Given the description of an element on the screen output the (x, y) to click on. 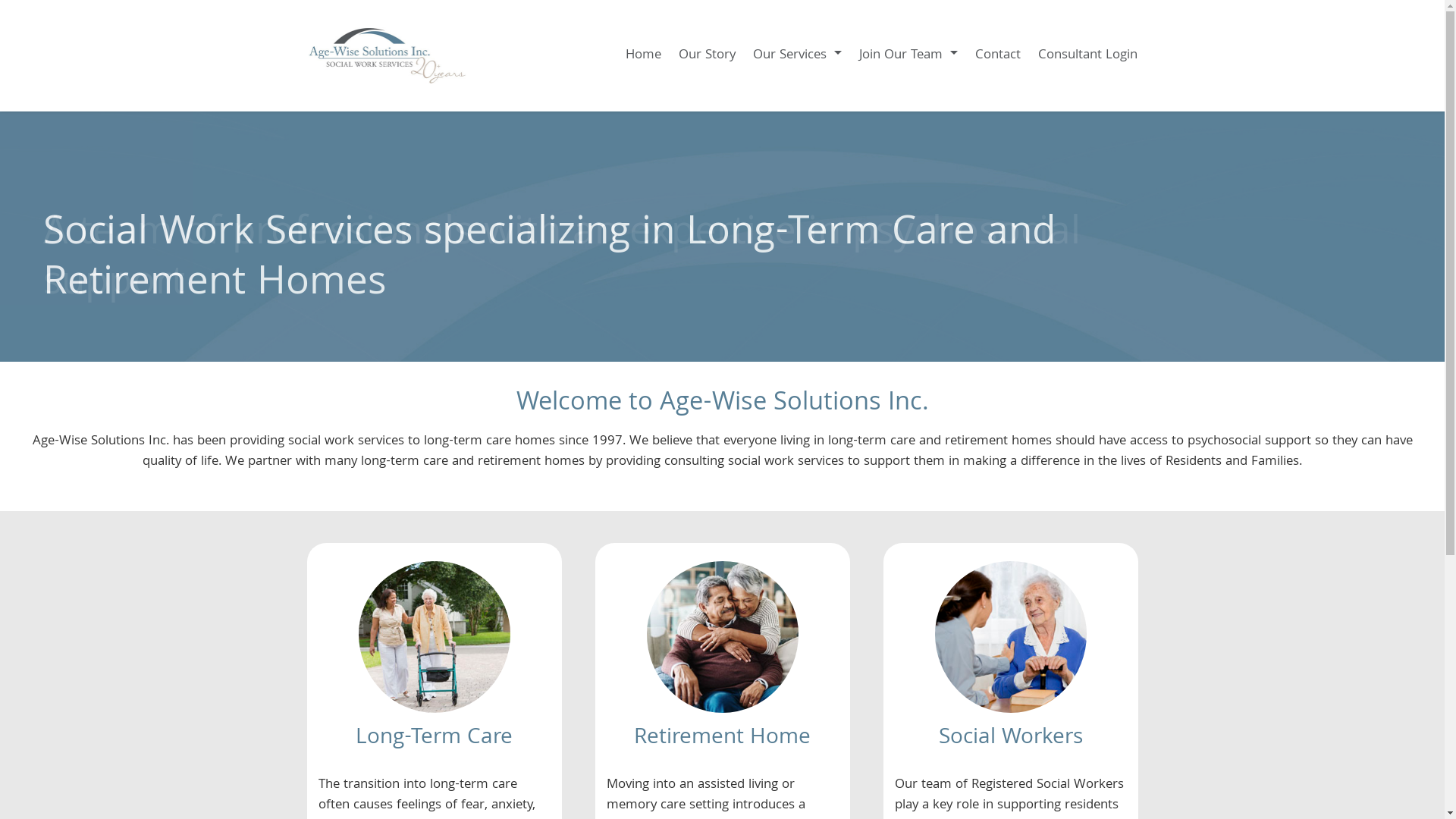
Join Our Team Element type: text (905, 55)
Our Services Element type: text (794, 55)
Consultant Login Element type: text (1084, 55)
Contact Element type: text (994, 55)
Our Story Element type: text (704, 55)
Home Element type: text (640, 55)
